Given the description of an element on the screen output the (x, y) to click on. 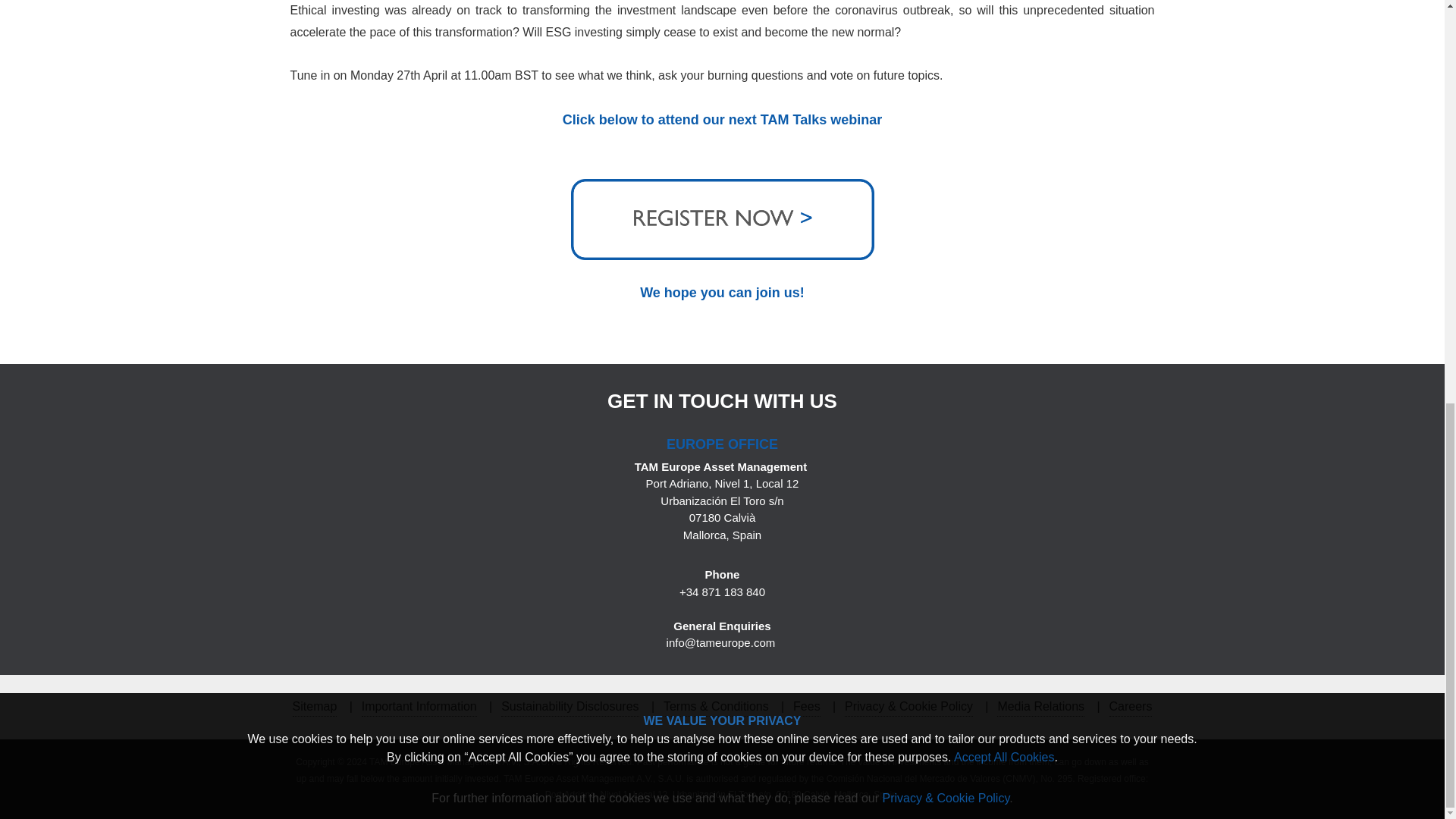
Careers (1129, 706)
Fees (807, 706)
Sitemap (314, 706)
Sitemap (314, 706)
Sustainability Disclosures (569, 706)
Important Information (419, 706)
Media Relations (1040, 706)
